Given the description of an element on the screen output the (x, y) to click on. 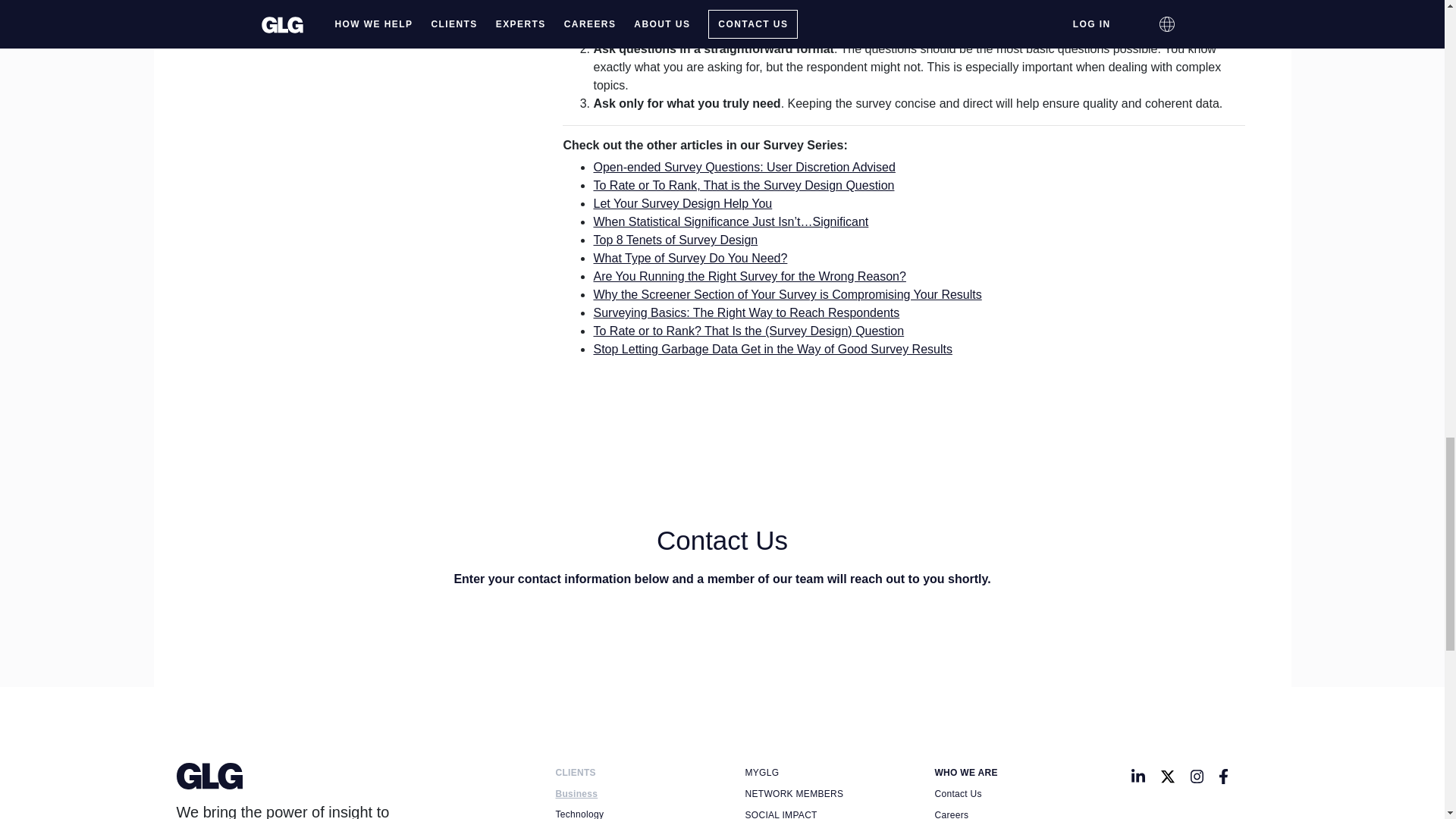
LinkedIn (1137, 775)
Instagram (1197, 775)
Twitter (1167, 775)
